Given the description of an element on the screen output the (x, y) to click on. 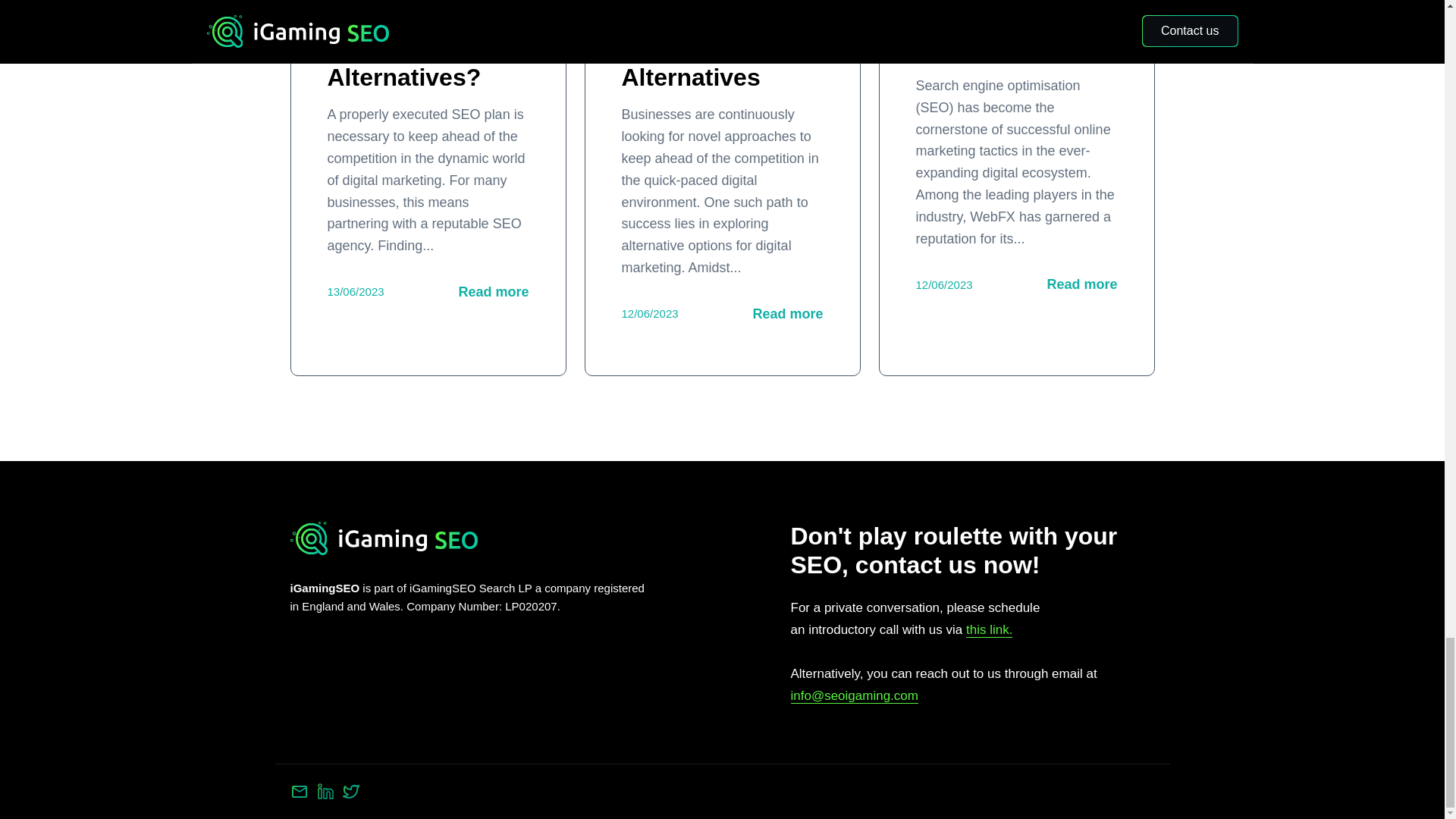
Read more (1081, 283)
How to Find UniK SEO Agency Alternatives? (404, 45)
Read more (787, 313)
this link. (988, 630)
Read more (493, 291)
Pearllemon Agency: Best Way to Find Alternatives (699, 45)
